Given the description of an element on the screen output the (x, y) to click on. 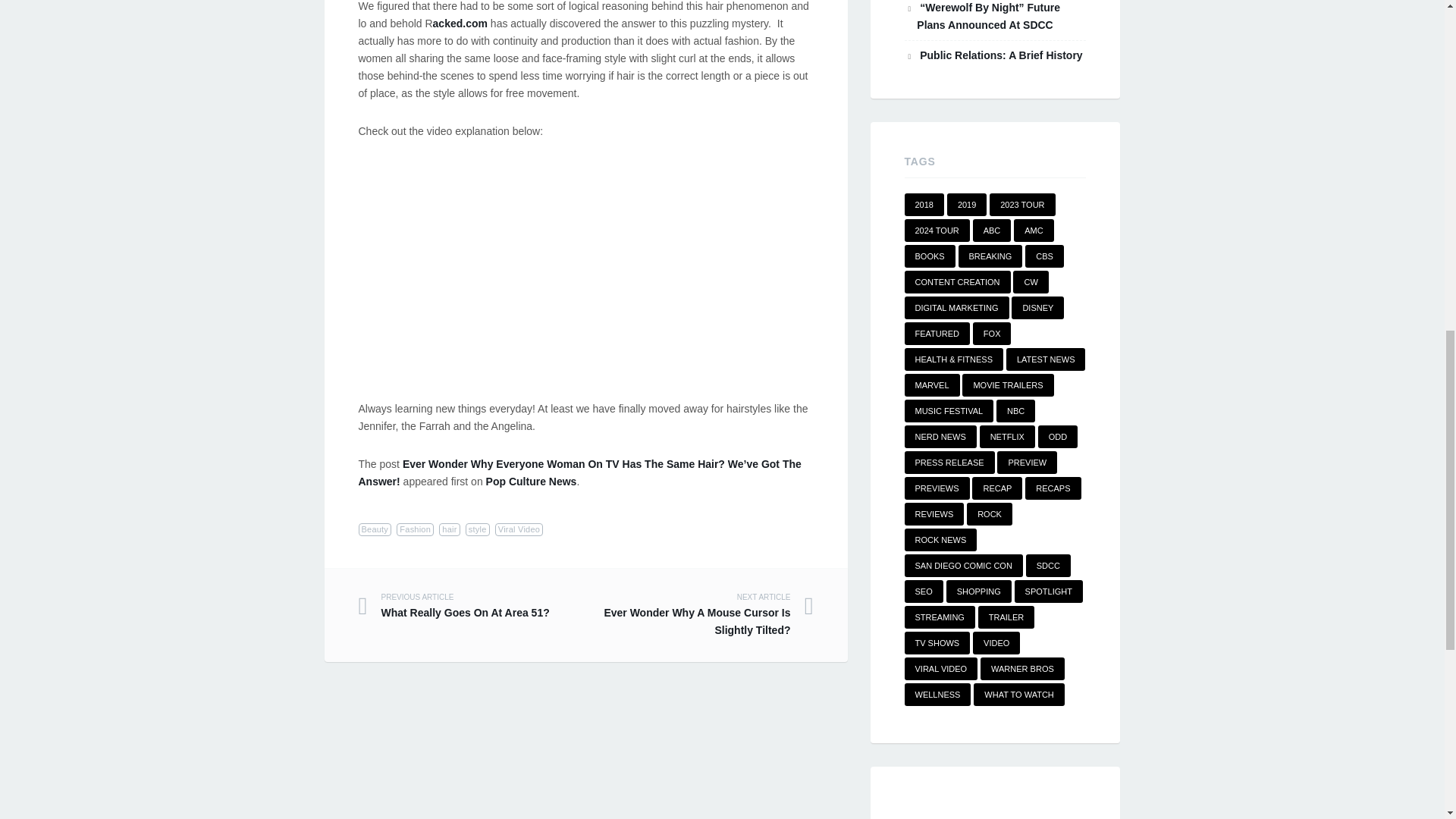
Viral Video (519, 529)
2019 (967, 204)
2018 (923, 204)
BOOKS (929, 255)
style (477, 529)
ABC (991, 230)
AMC (1032, 230)
Public Relations: A Brief History (1000, 55)
BREAKING (990, 255)
2024 TOUR (936, 230)
Beauty (374, 529)
Pop Culture News (531, 481)
acked.com (459, 23)
hair (449, 529)
